Given the description of an element on the screen output the (x, y) to click on. 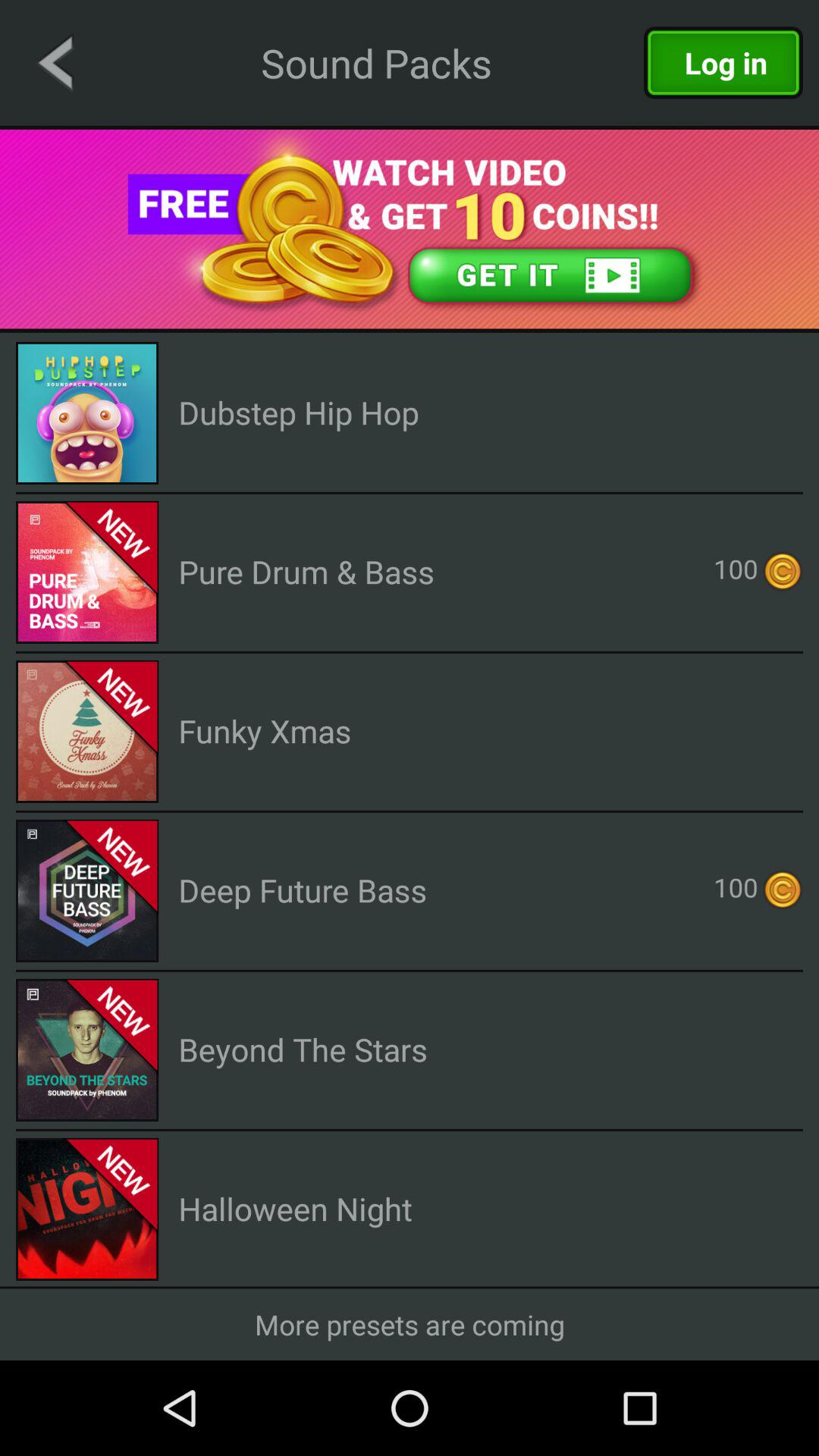
launch the icon next to 100 item (306, 571)
